Given the description of an element on the screen output the (x, y) to click on. 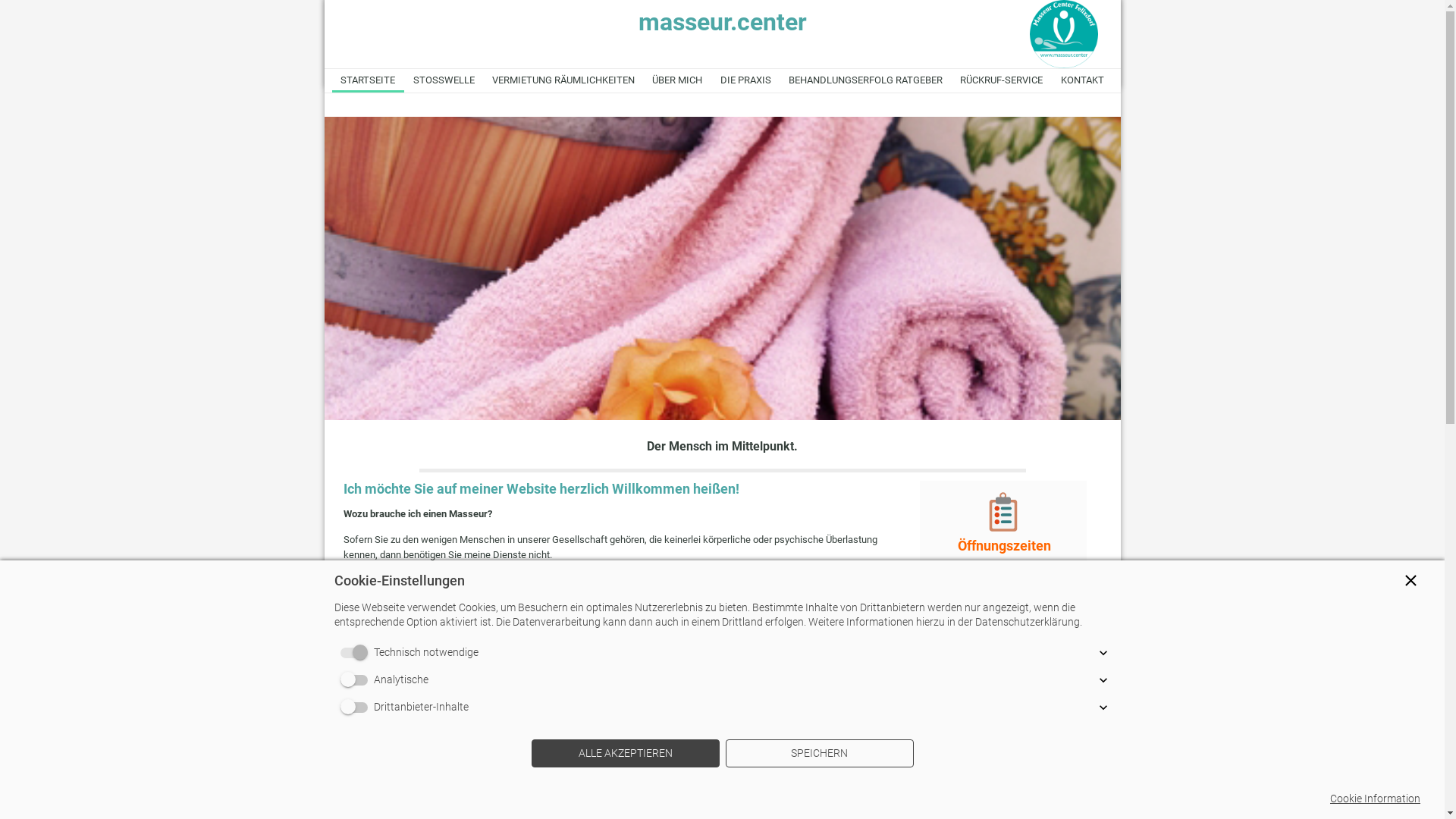
KONTAKT Element type: text (1081, 79)
BEHANDLUNGSERFOLG RATGEBER Element type: text (864, 79)
ALLE AKZEPTIEREN Element type: text (624, 753)
STOSSWELLE Element type: text (443, 79)
STARTSEITE Element type: text (368, 79)
SPEICHERN Element type: text (818, 753)
Cookie Information Element type: text (1375, 798)
Impressum Element type: text (956, 774)
DIE PRAXIS Element type: text (745, 79)
  Element type: text (1063, 6)
